Given the description of an element on the screen output the (x, y) to click on. 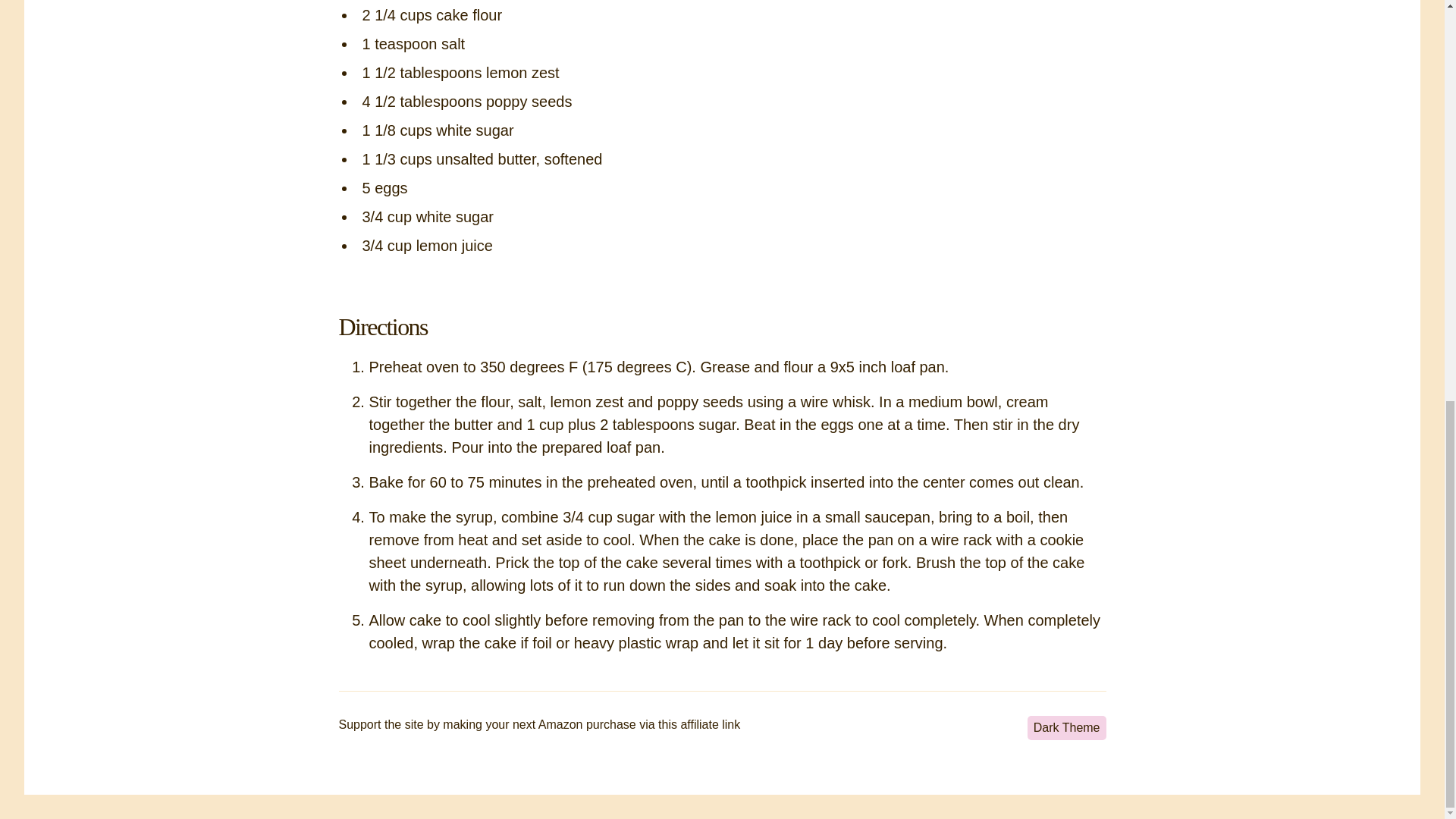
Dark Theme (1066, 727)
